Given the description of an element on the screen output the (x, y) to click on. 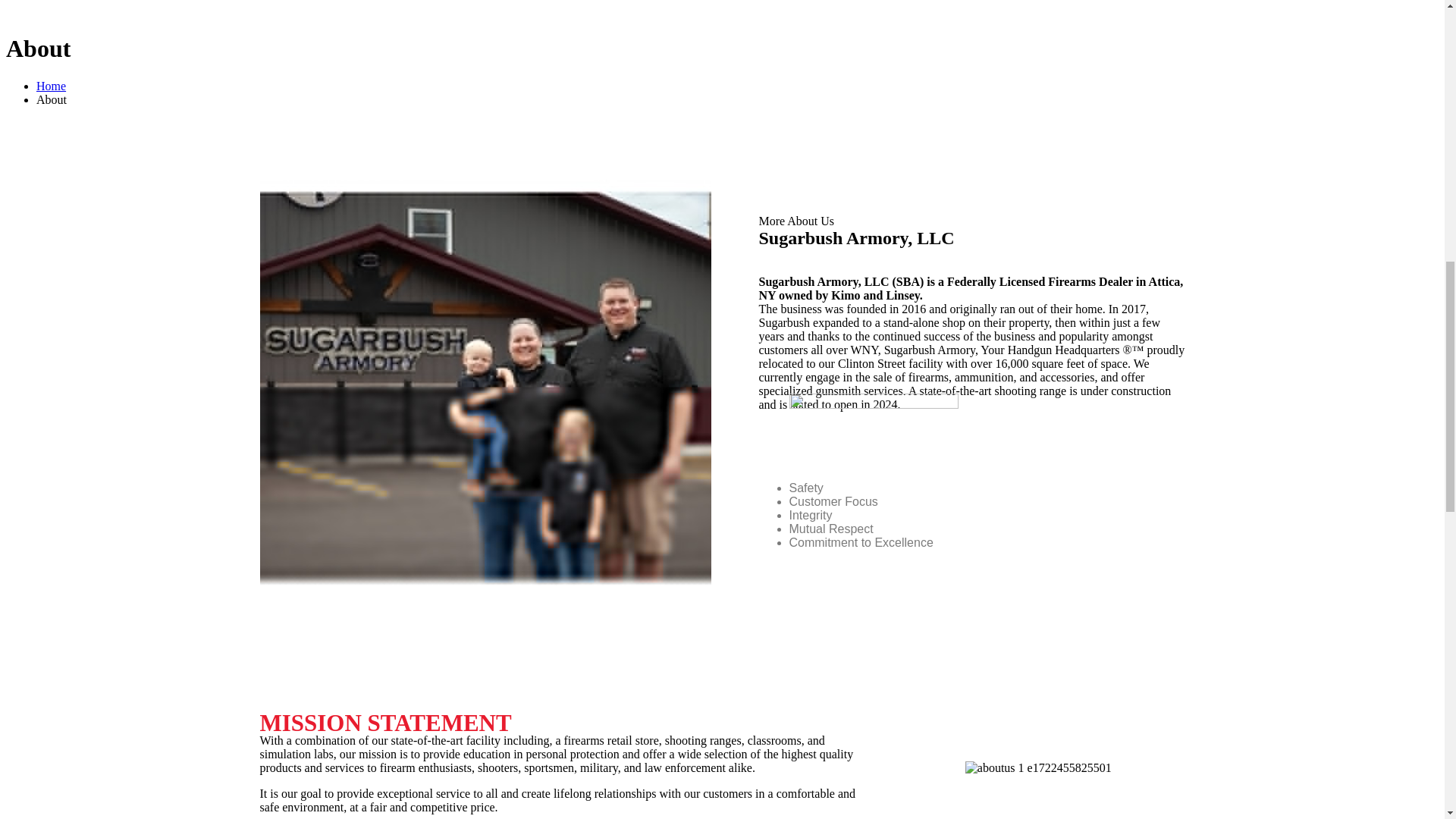
Home (50, 85)
Home (50, 85)
